Given the description of an element on the screen output the (x, y) to click on. 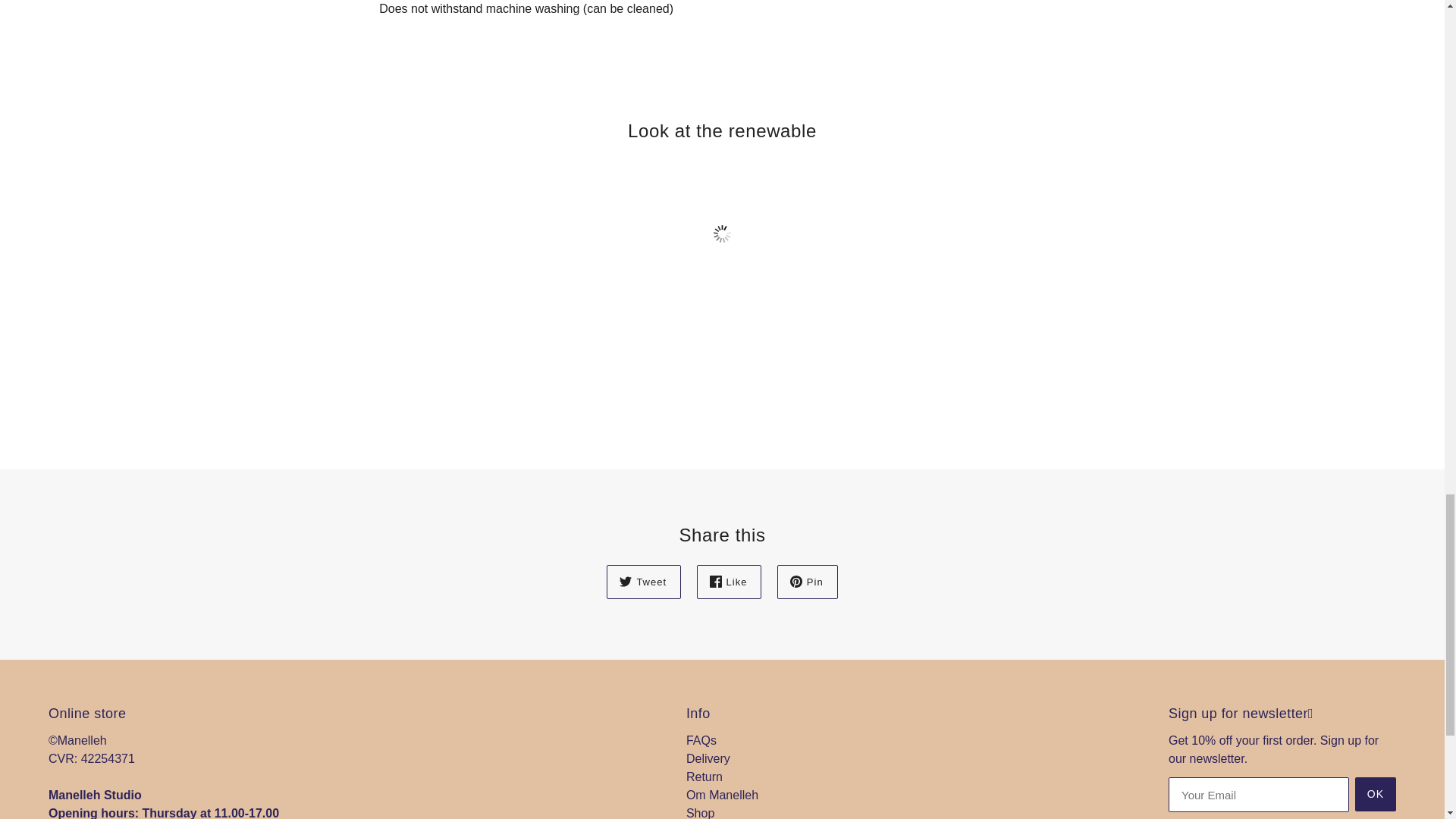
Delivery (707, 758)
Return (703, 776)
FAQs (700, 739)
Shop (699, 812)
Om Manelleh (721, 794)
